Given the description of an element on the screen output the (x, y) to click on. 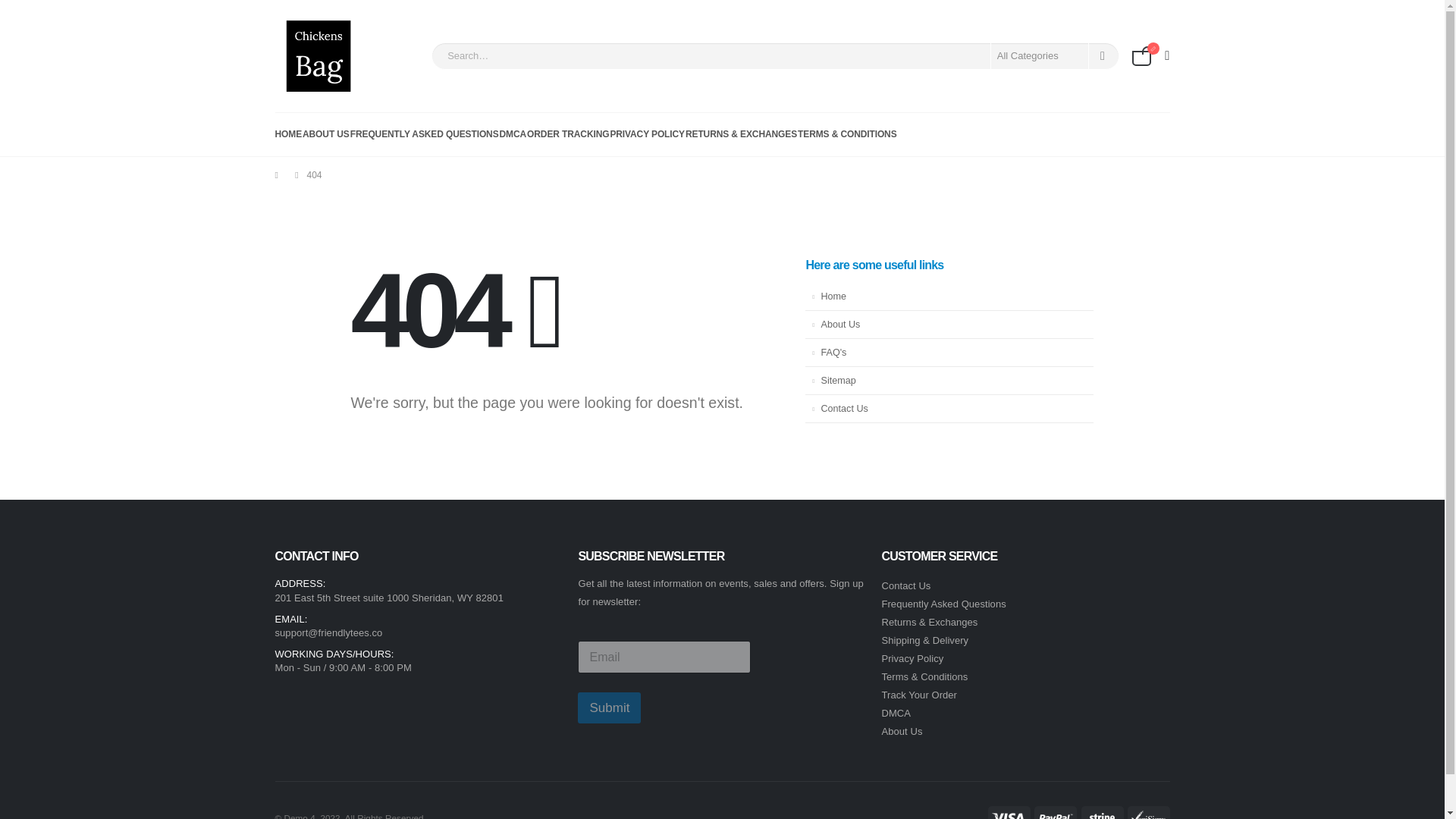
Submit (609, 707)
ORDER TRACKING (567, 134)
Search (1102, 55)
Home (949, 296)
Contact Us (949, 408)
DMCA (895, 713)
Track Your Order (918, 695)
FREQUENTLY ASKED QUESTIONS (424, 134)
Privacy Policy (911, 658)
ABOUT US (325, 134)
